Given the description of an element on the screen output the (x, y) to click on. 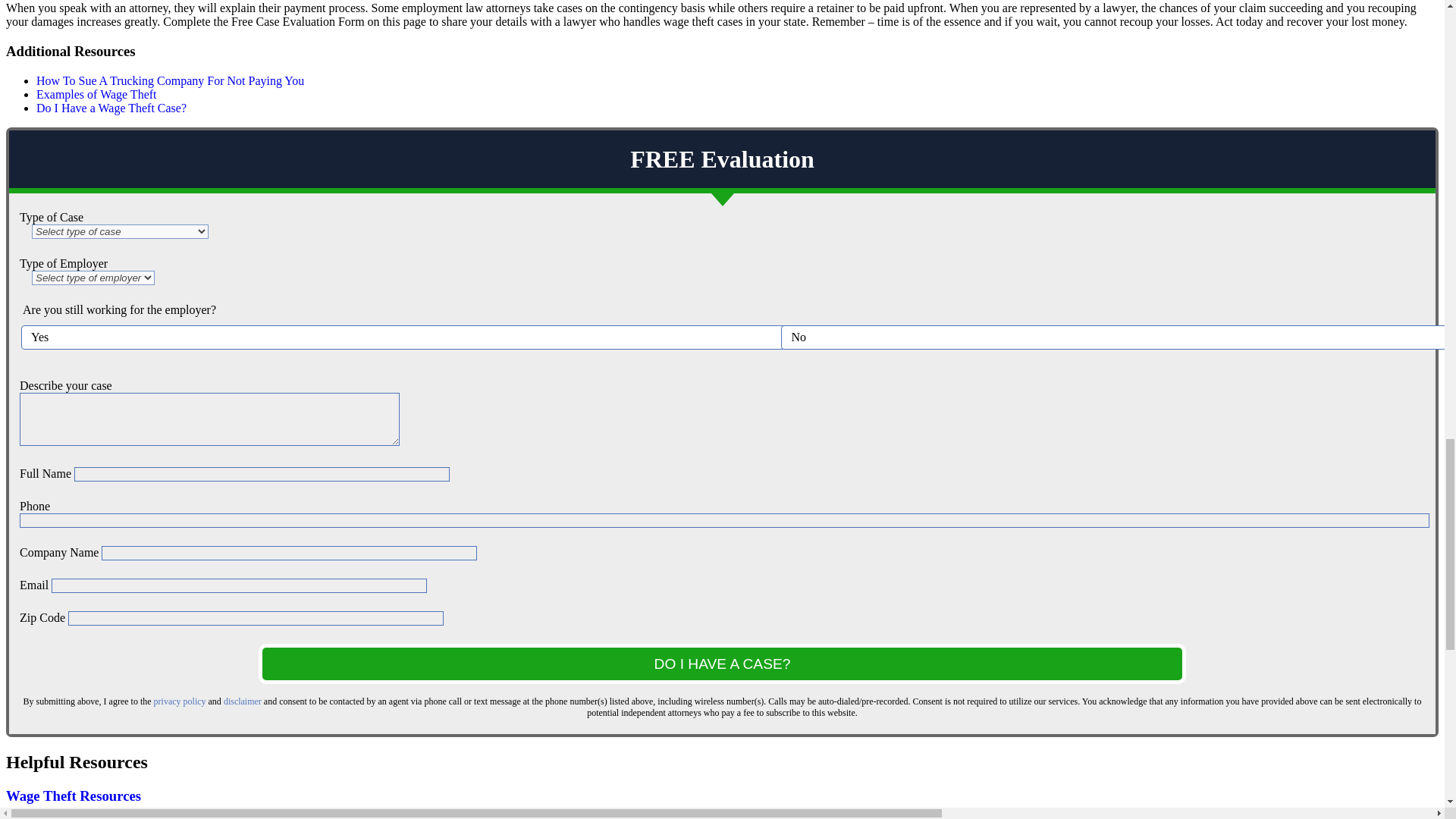
How To Sue A Trucking Company For Not Paying You (170, 80)
Wage Theft Resources (73, 795)
DO I HAVE A CASE? (722, 663)
privacy policy (180, 701)
Examples of Wage Theft (96, 93)
Do I Have a Wage Theft Case? (111, 107)
disclaimer (243, 701)
